Given the description of an element on the screen output the (x, y) to click on. 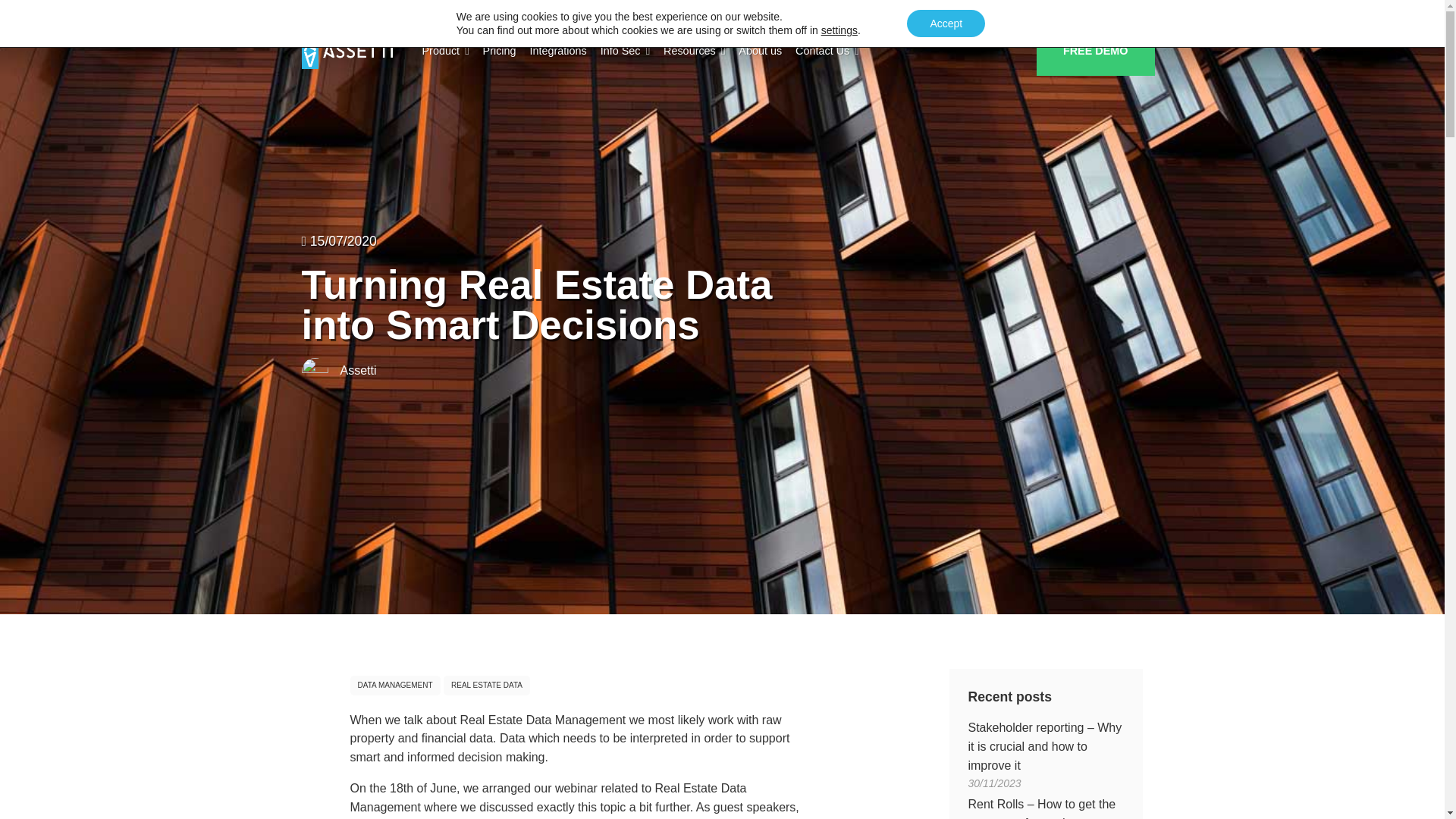
Resources (694, 51)
Assetti (347, 50)
Pricing (499, 51)
FREE DEMO (1095, 51)
Pricing (499, 51)
Info Sec (625, 51)
Helpdesk (1052, 13)
English (1111, 13)
Info Sec (625, 51)
Integrations (558, 51)
Product (445, 51)
Product (445, 51)
Integrations (558, 51)
Contact Us (827, 51)
Login (1003, 13)
